Given the description of an element on the screen output the (x, y) to click on. 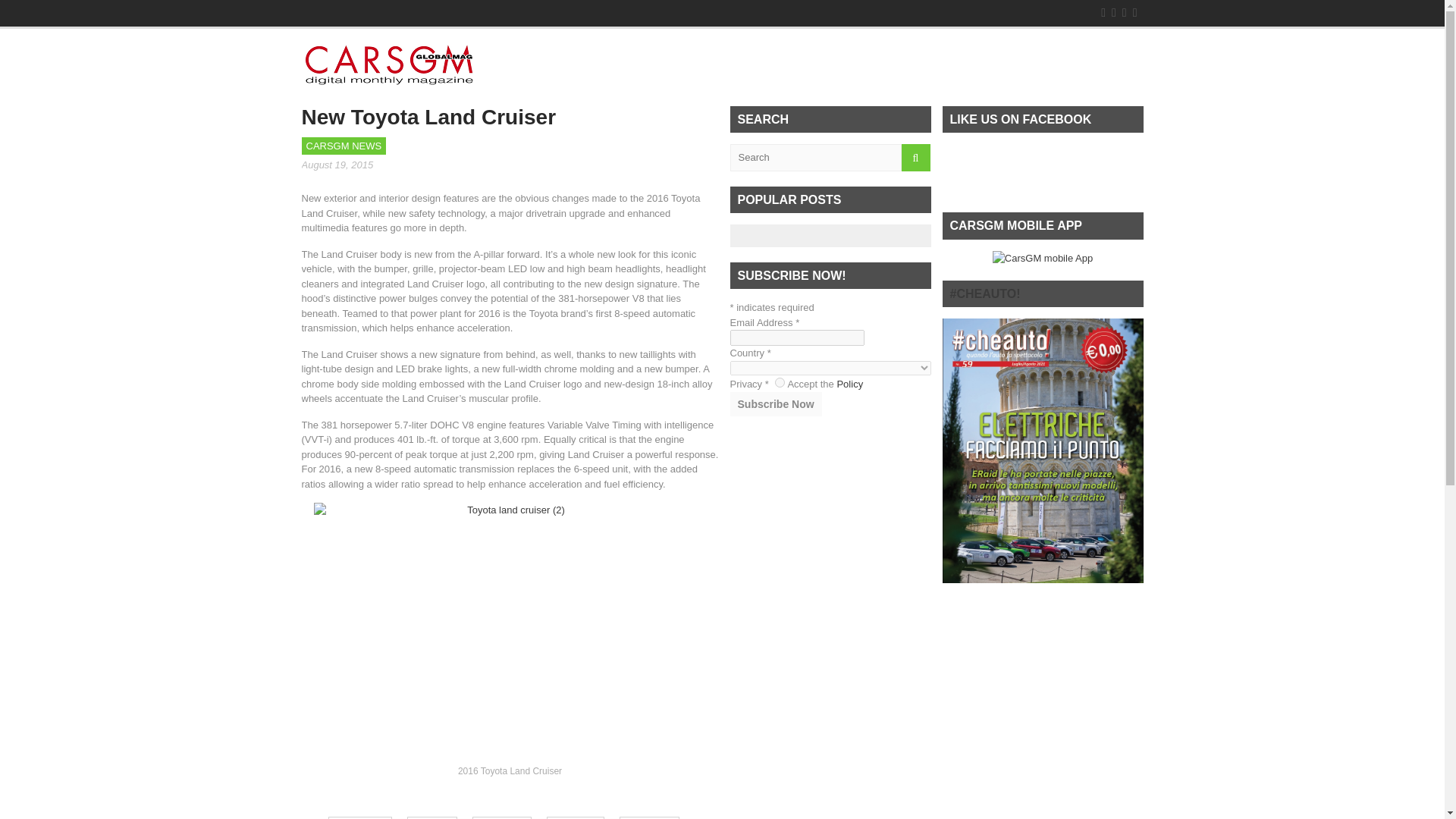
Subscribe Now (775, 404)
Policy (849, 383)
Subscribe Now (775, 404)
Cars GM Policy Page (849, 383)
CarsGM mobile App (1042, 258)
Accept (779, 382)
CARSGM NEWS (343, 145)
CARS GLOBALMAG (390, 78)
